Given the description of an element on the screen output the (x, y) to click on. 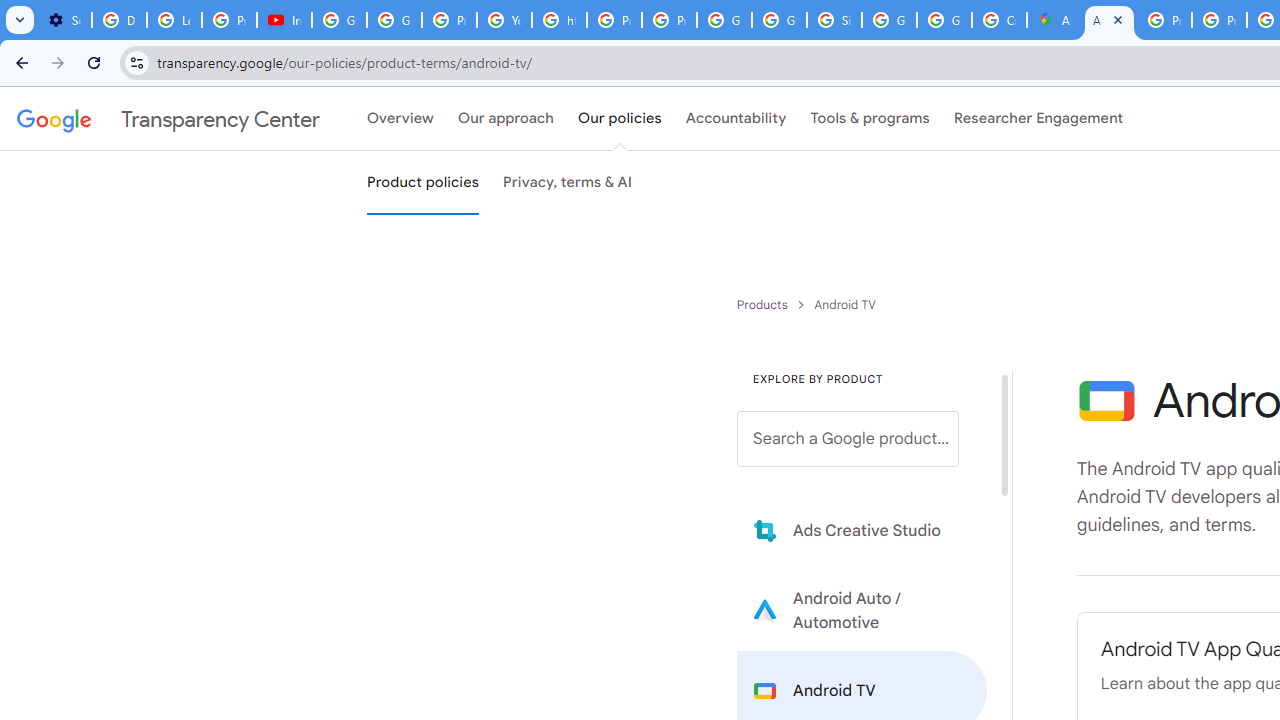
Create your Google Account (998, 20)
Learn more about Android Auto (862, 610)
Our policies (619, 119)
Tools & programs (869, 119)
Privacy Help Center - Policies Help (1163, 20)
Accountability (735, 119)
Search a Google product from below list. (847, 439)
Researcher Engagement (1038, 119)
Sign in - Google Accounts (833, 20)
Android TV Policies and Guidelines - Transparency Center (1108, 20)
Privacy, terms & AI (568, 183)
